Given the description of an element on the screen output the (x, y) to click on. 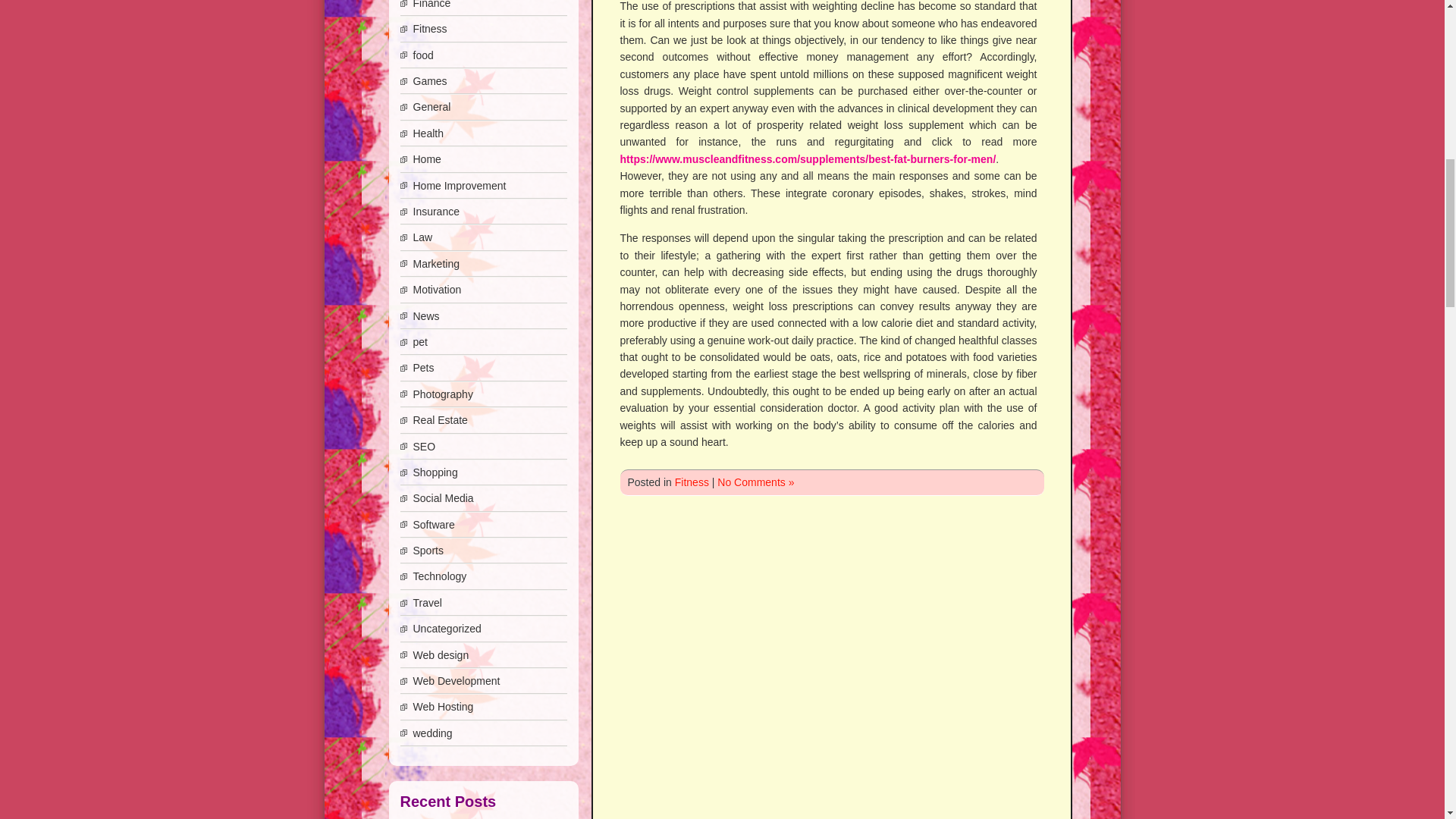
Finance (430, 4)
General (430, 106)
Home Improvement (458, 185)
Health (427, 133)
Games (429, 80)
pet (419, 341)
food (422, 55)
Marketing (435, 263)
News (425, 316)
Pets (422, 367)
